Given the description of an element on the screen output the (x, y) to click on. 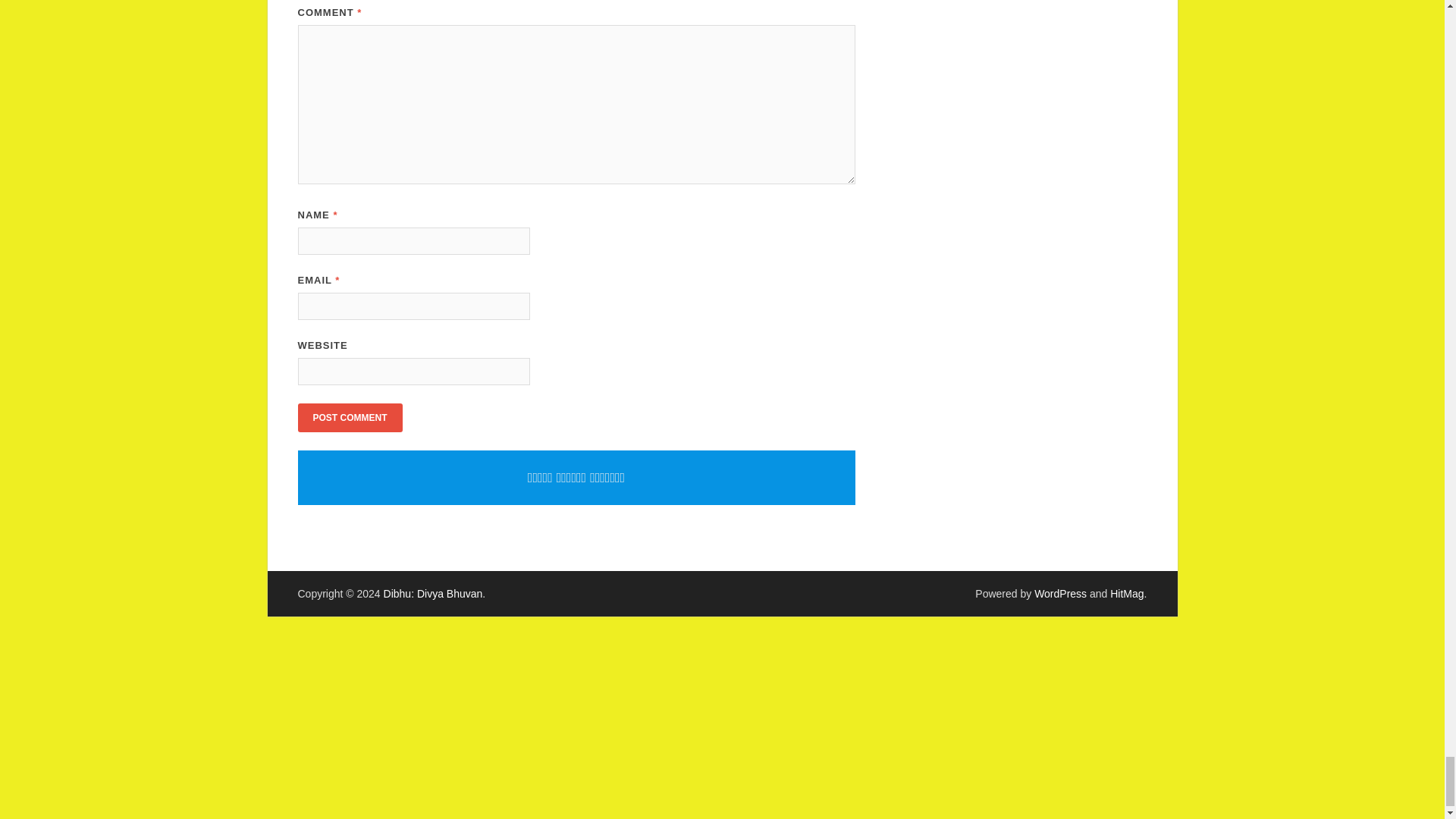
Post Comment (349, 417)
